Given the description of an element on the screen output the (x, y) to click on. 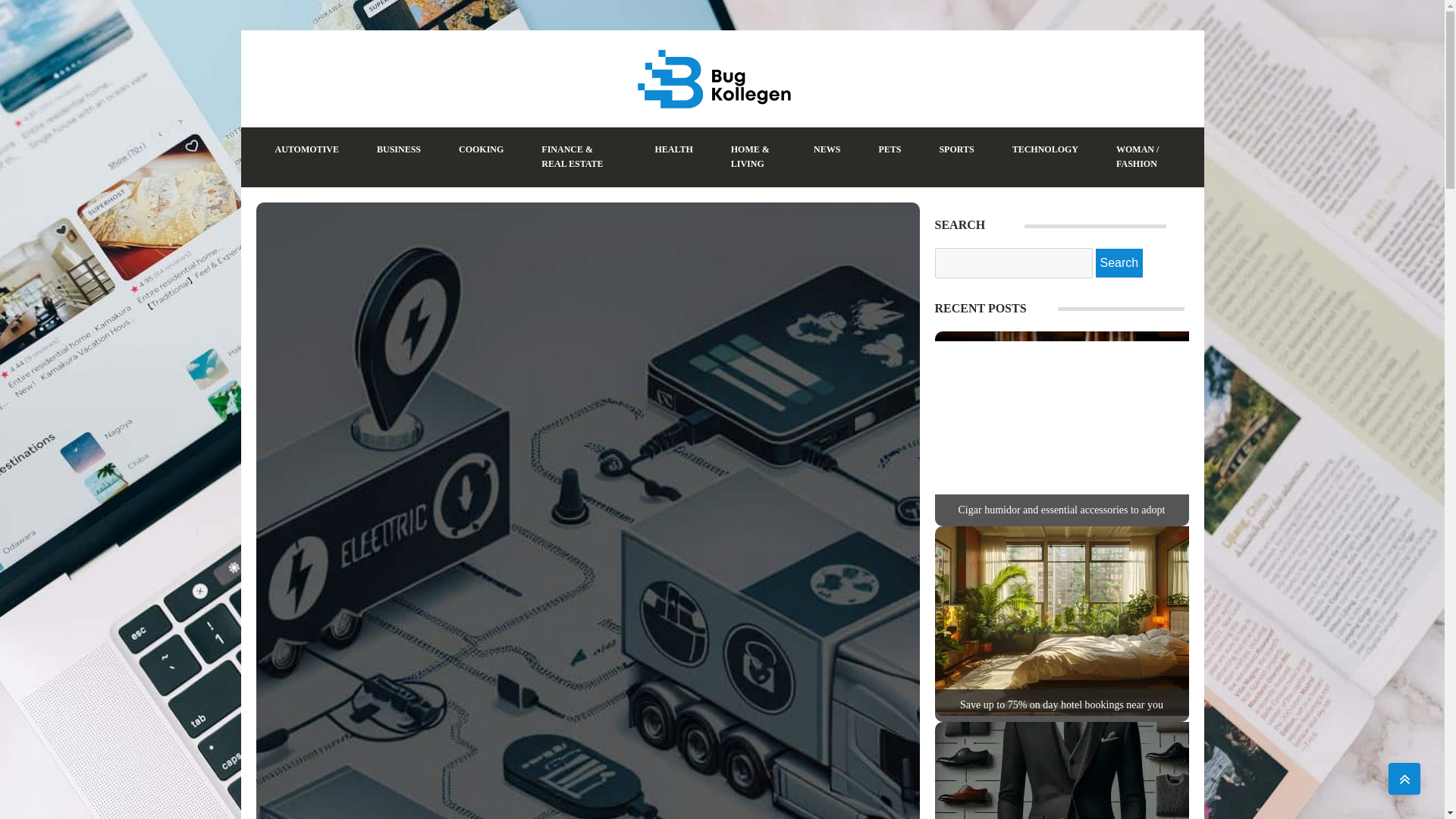
BUSINESS (398, 149)
HEALTH (672, 149)
SPORTS (956, 149)
AUTOMOTIVE (307, 149)
NEWS (826, 149)
PETS (889, 149)
COOKING (480, 149)
